Given the description of an element on the screen output the (x, y) to click on. 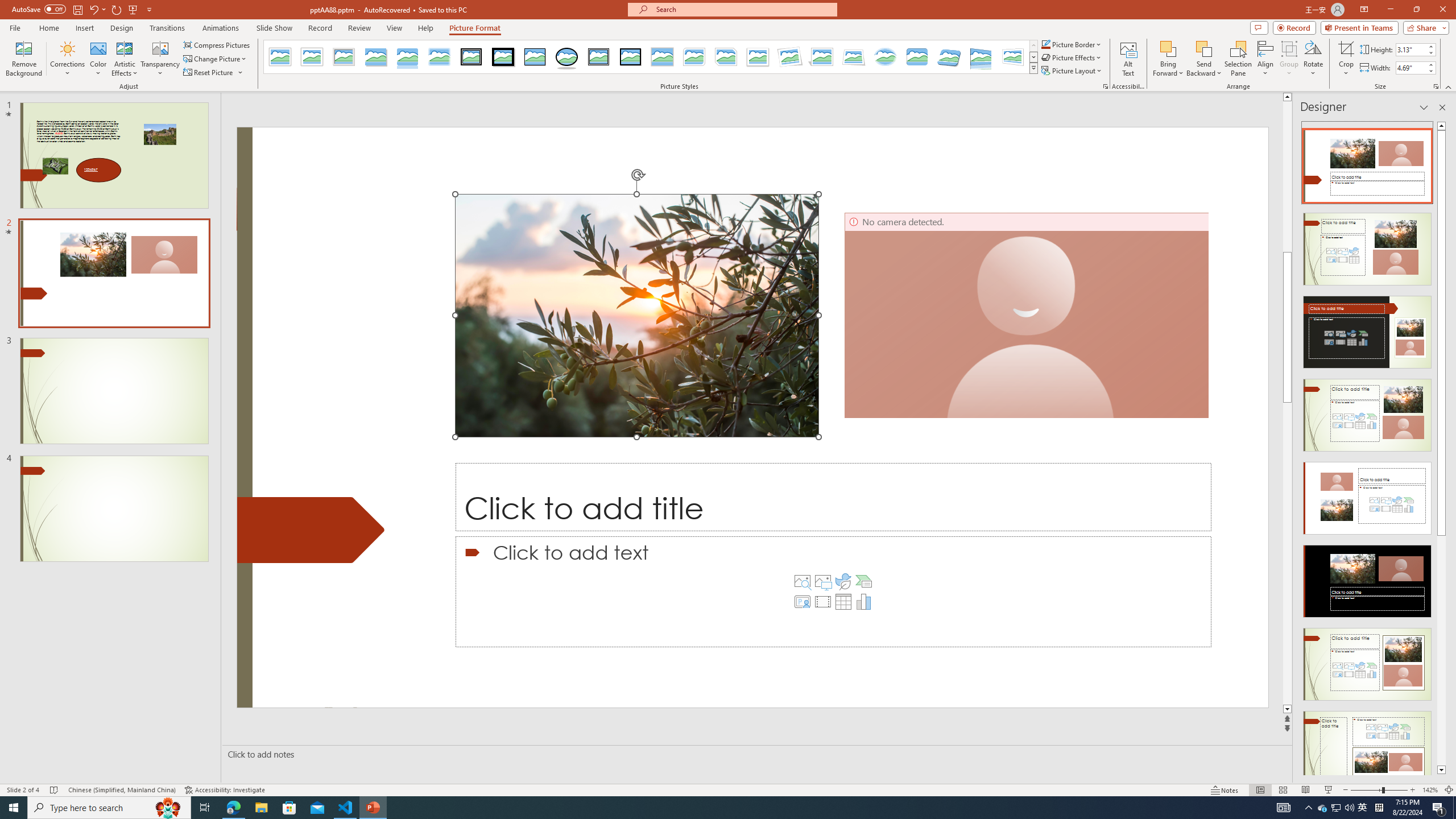
Snip Diagonal Corner, White (726, 56)
Moderate Frame, Black (630, 56)
Reflected Perspective Right (981, 56)
Soft Edge Rectangle (439, 56)
Compound Frame, Black (598, 56)
Color (97, 58)
Picture Format (475, 28)
Picture Effects (1072, 56)
